Given the description of an element on the screen output the (x, y) to click on. 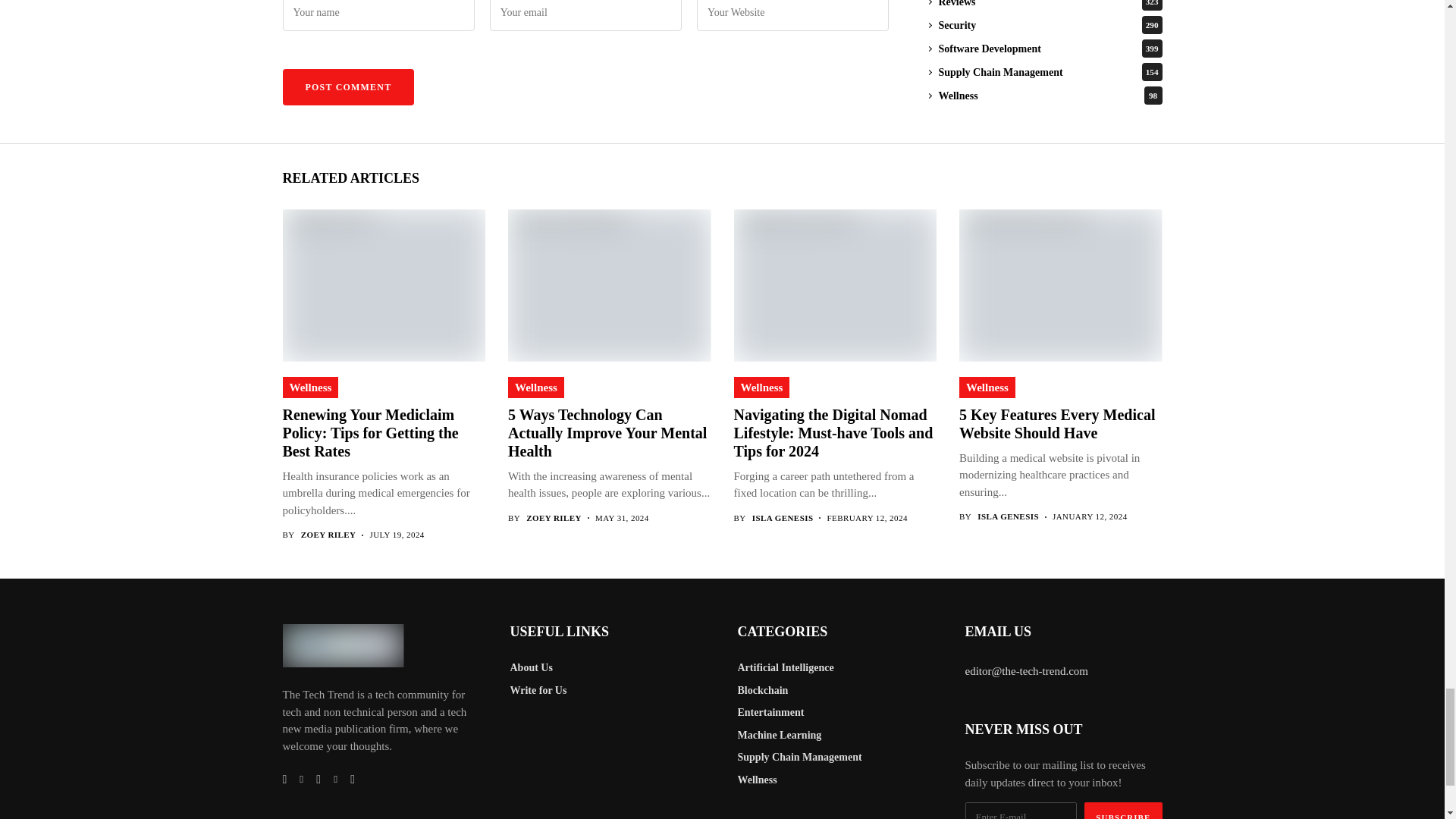
Please wait until Google reCAPTCHA is loaded. (347, 86)
Posts by Zoey Riley (552, 518)
Post Comment (347, 86)
Posts by Isla Genesis (1007, 516)
Posts by Zoey Riley (328, 534)
Posts by Isla Genesis (782, 518)
Subscribe (1122, 810)
